Given the description of an element on the screen output the (x, y) to click on. 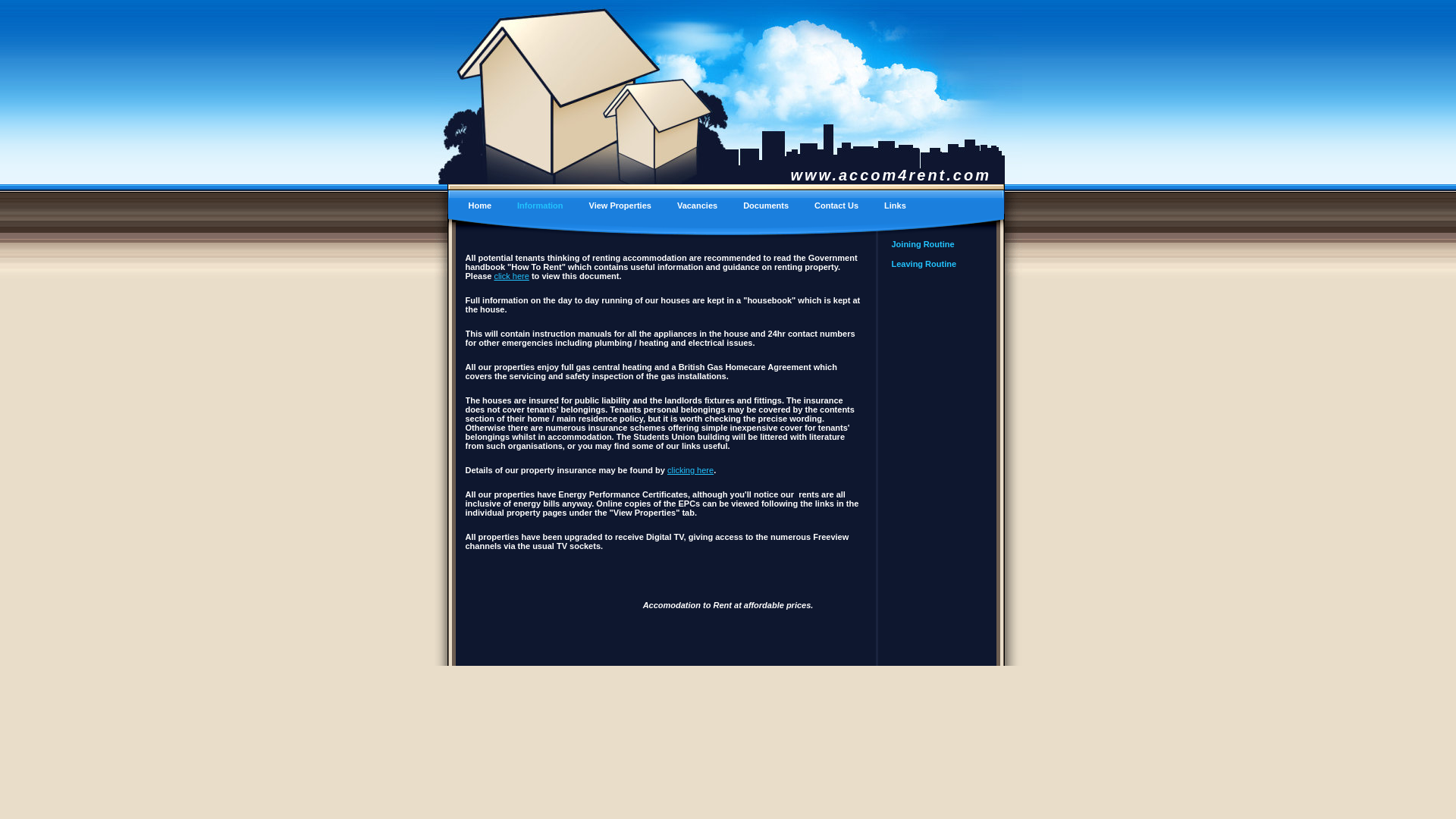
Home (481, 206)
Vacancies (698, 206)
Information (541, 206)
Joining Routine (934, 244)
Leaving Routine (934, 263)
click here (510, 275)
Documents (767, 206)
clicking here (689, 470)
View Properties (621, 206)
Contact Us (837, 206)
